Given the description of an element on the screen output the (x, y) to click on. 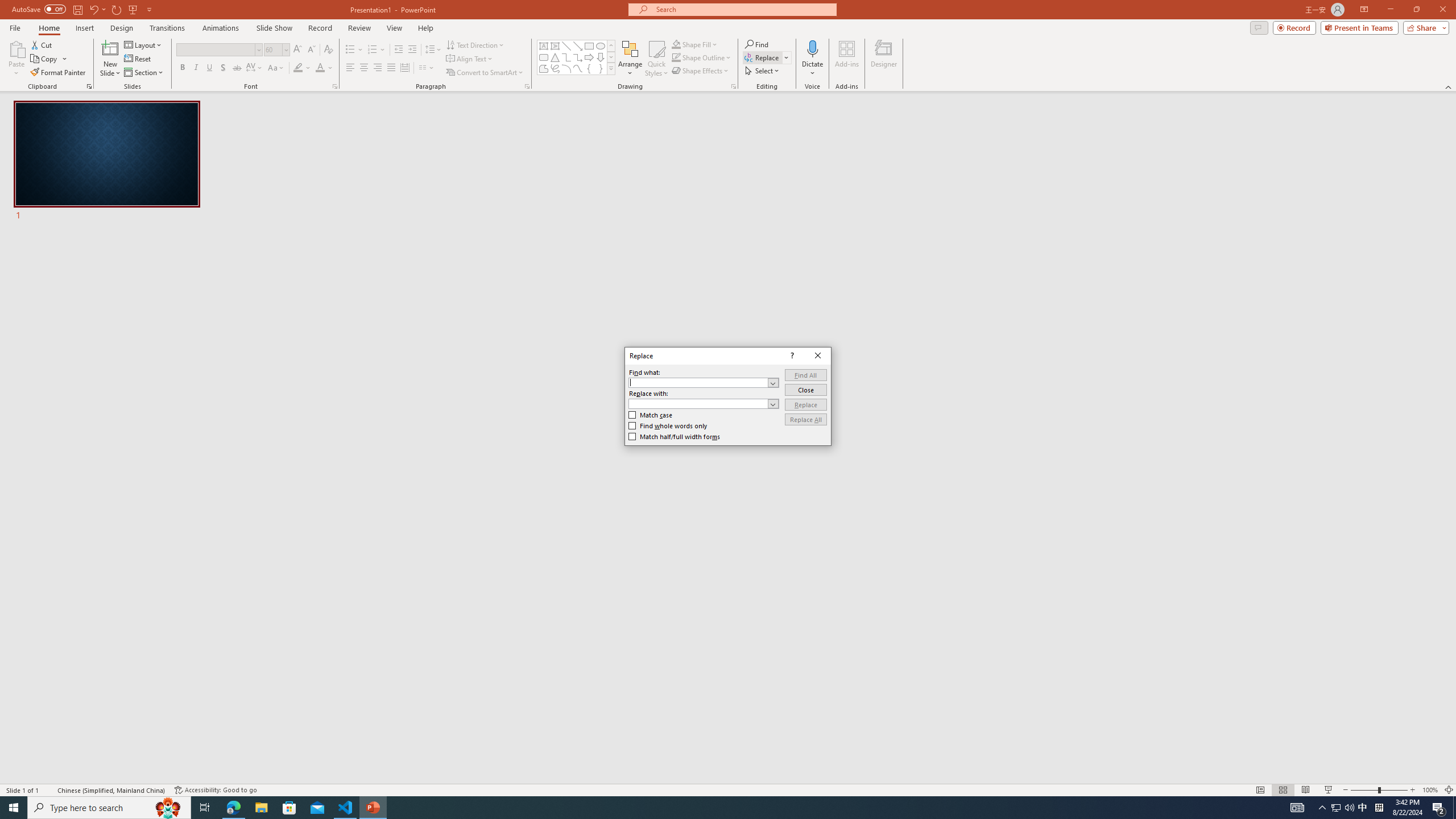
Shape Fill Orange, Accent 2 (675, 44)
Freeform: Scribble (554, 68)
Show desktop (1454, 807)
Font... (334, 85)
Notification Chevron (1322, 807)
Text Highlight Color (302, 67)
Oval (600, 45)
Freeform: Shape (543, 68)
